Given the description of an element on the screen output the (x, y) to click on. 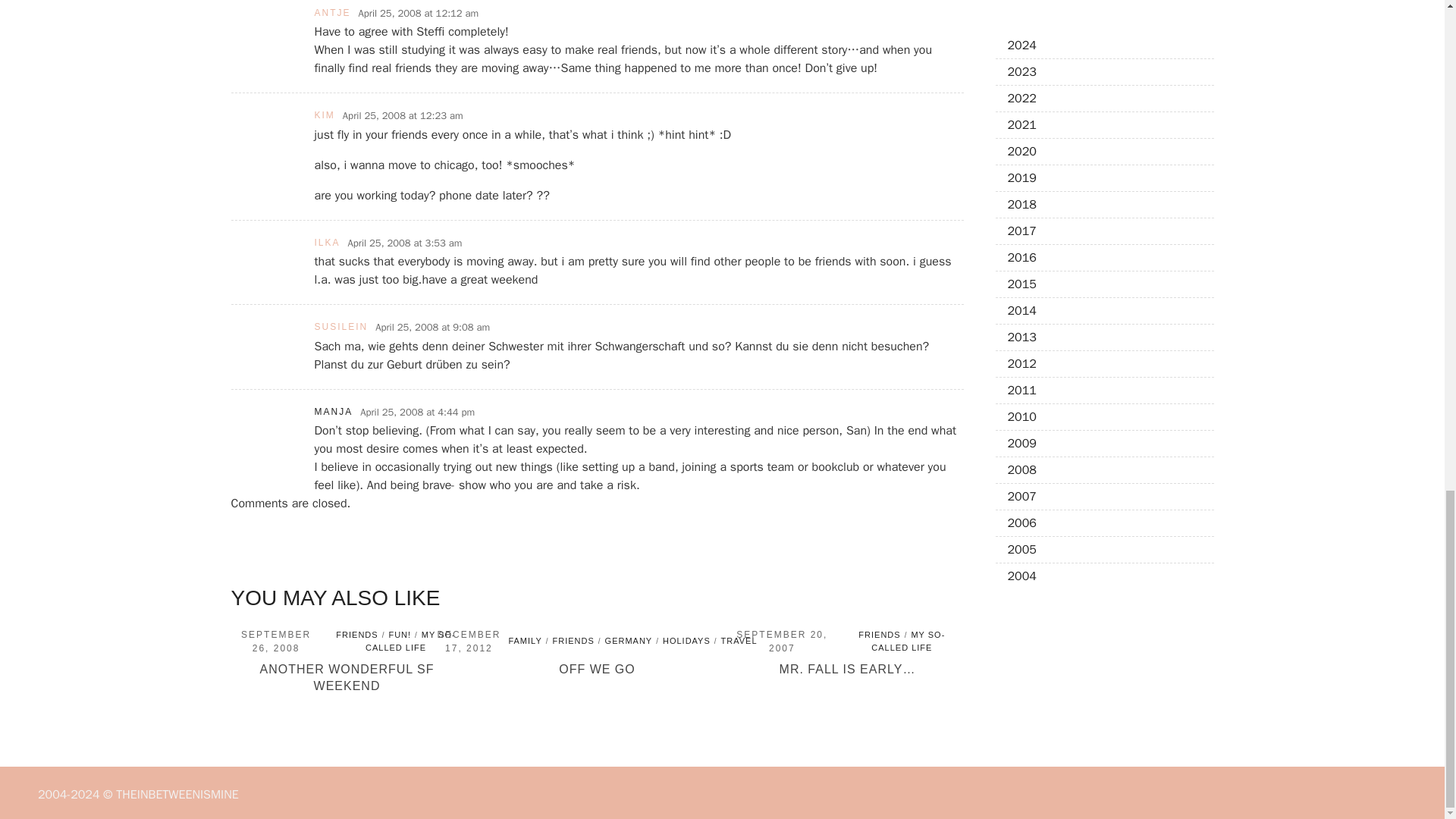
April 25, 2008 at 9:08 am (432, 327)
April 25, 2008 at 12:23 am (402, 115)
HOLIDAYS (686, 640)
FRIENDS (356, 634)
KIM (324, 114)
ANOTHER WONDERFUL SF WEEKEND (346, 677)
FUN! (399, 634)
TRAVEL (738, 640)
ILKA (326, 242)
GERMANY (628, 640)
MY SO-CALLED LIFE (410, 640)
OFF WE GO (596, 668)
April 25, 2008 at 12:12 am (418, 13)
FRIENDS (573, 640)
FAMILY (524, 640)
